Given the description of an element on the screen output the (x, y) to click on. 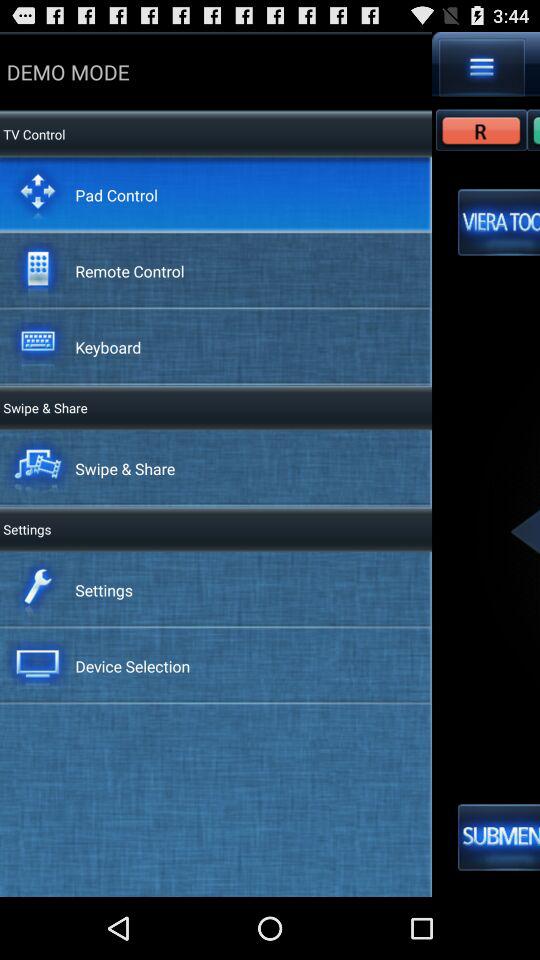
flip to remote control icon (129, 270)
